Given the description of an element on the screen output the (x, y) to click on. 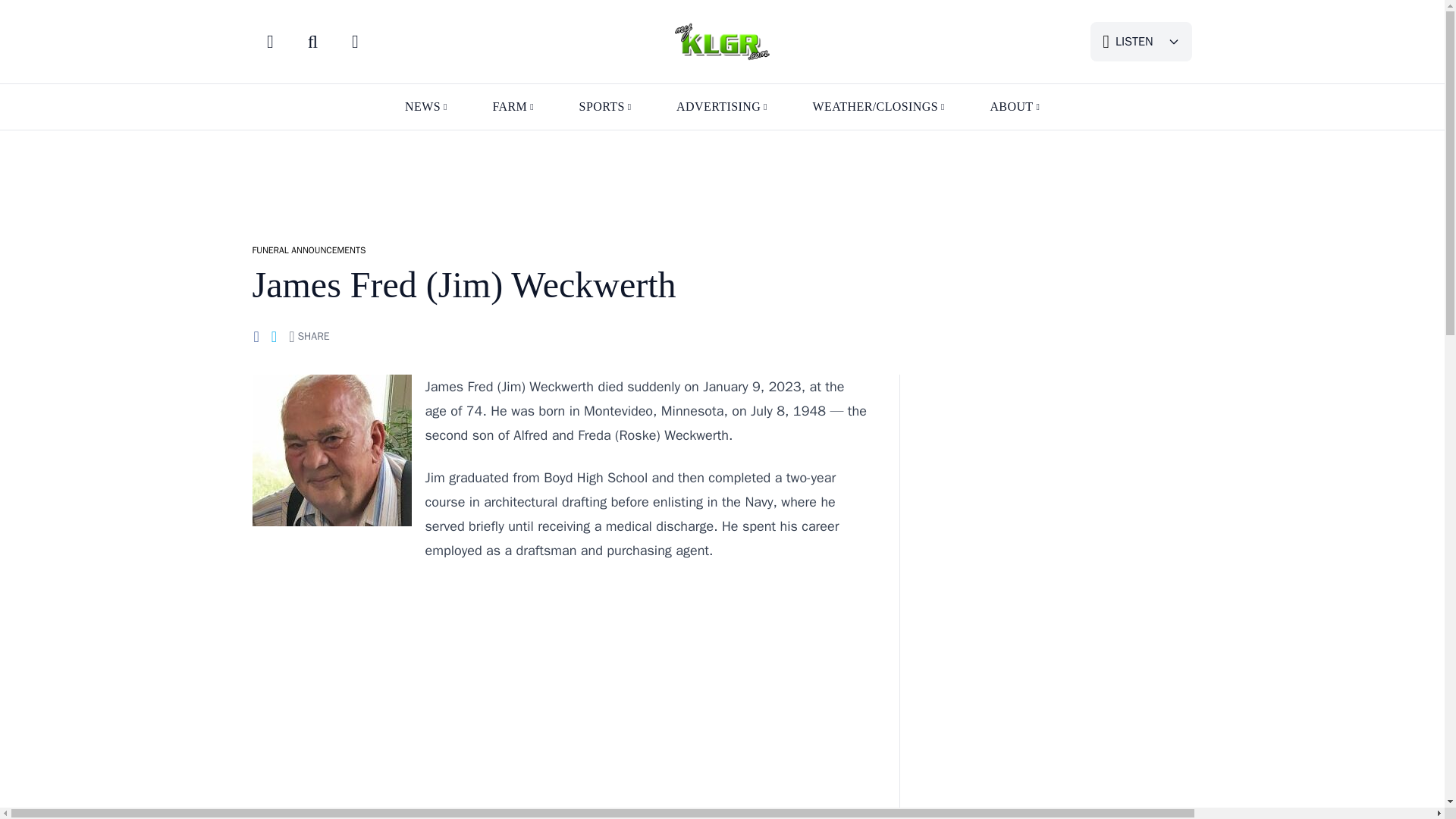
3rd party ad content (721, 179)
3rd party ad content (560, 687)
3rd party ad content (1060, 484)
